Given the description of an element on the screen output the (x, y) to click on. 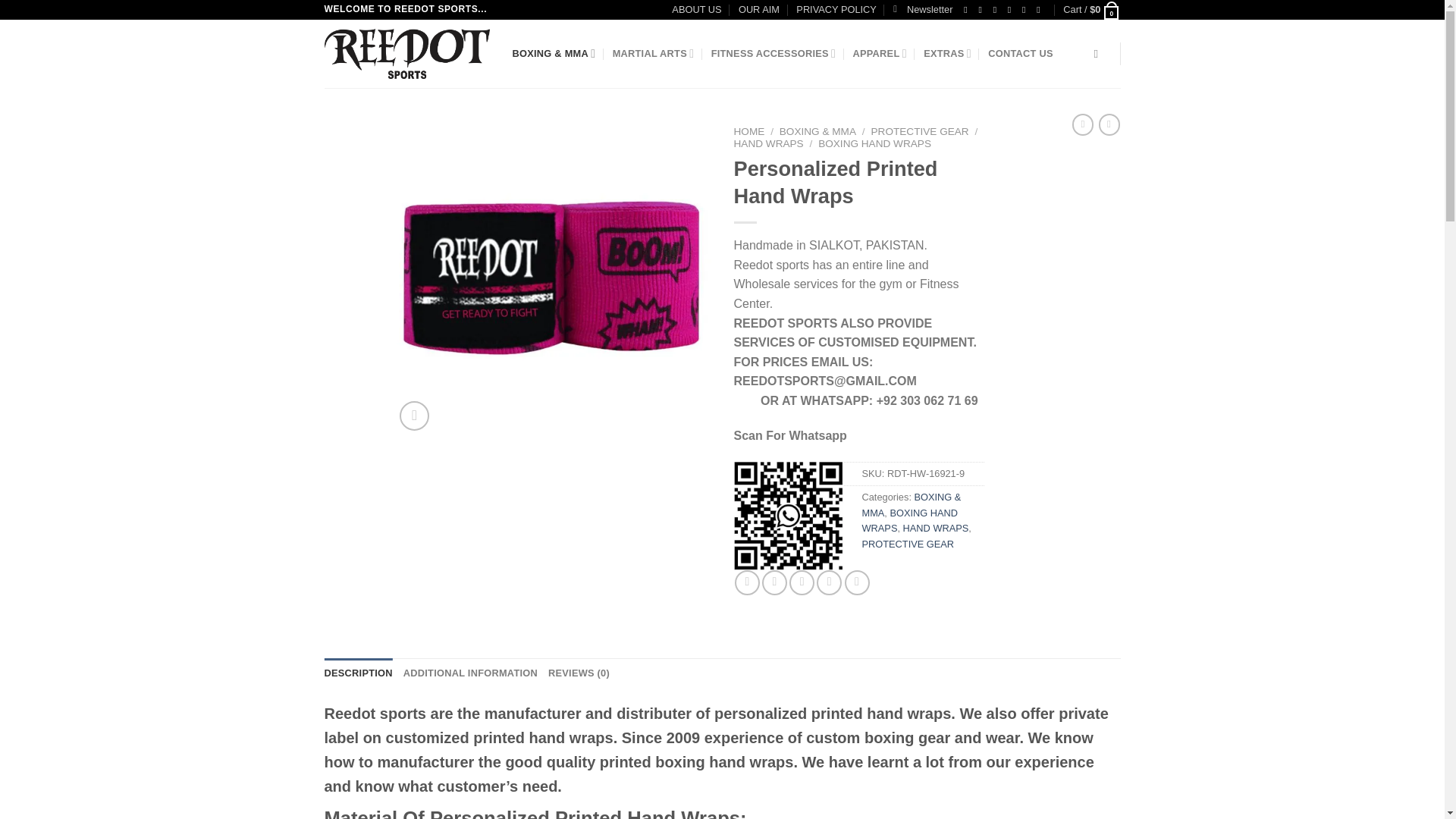
Newsletter (922, 9)
Zoom (413, 415)
custom-printed-boxing-hand-wraps (870, 277)
OUR AIM (758, 9)
Custom-printed-hand-wraps (551, 277)
PRIVACY POLICY (836, 9)
Sign up for Newsletter (922, 9)
Cart (1090, 9)
Reedot Sports - GET READY TO FIGHT (406, 53)
ABOUT US (695, 9)
